Given the description of an element on the screen output the (x, y) to click on. 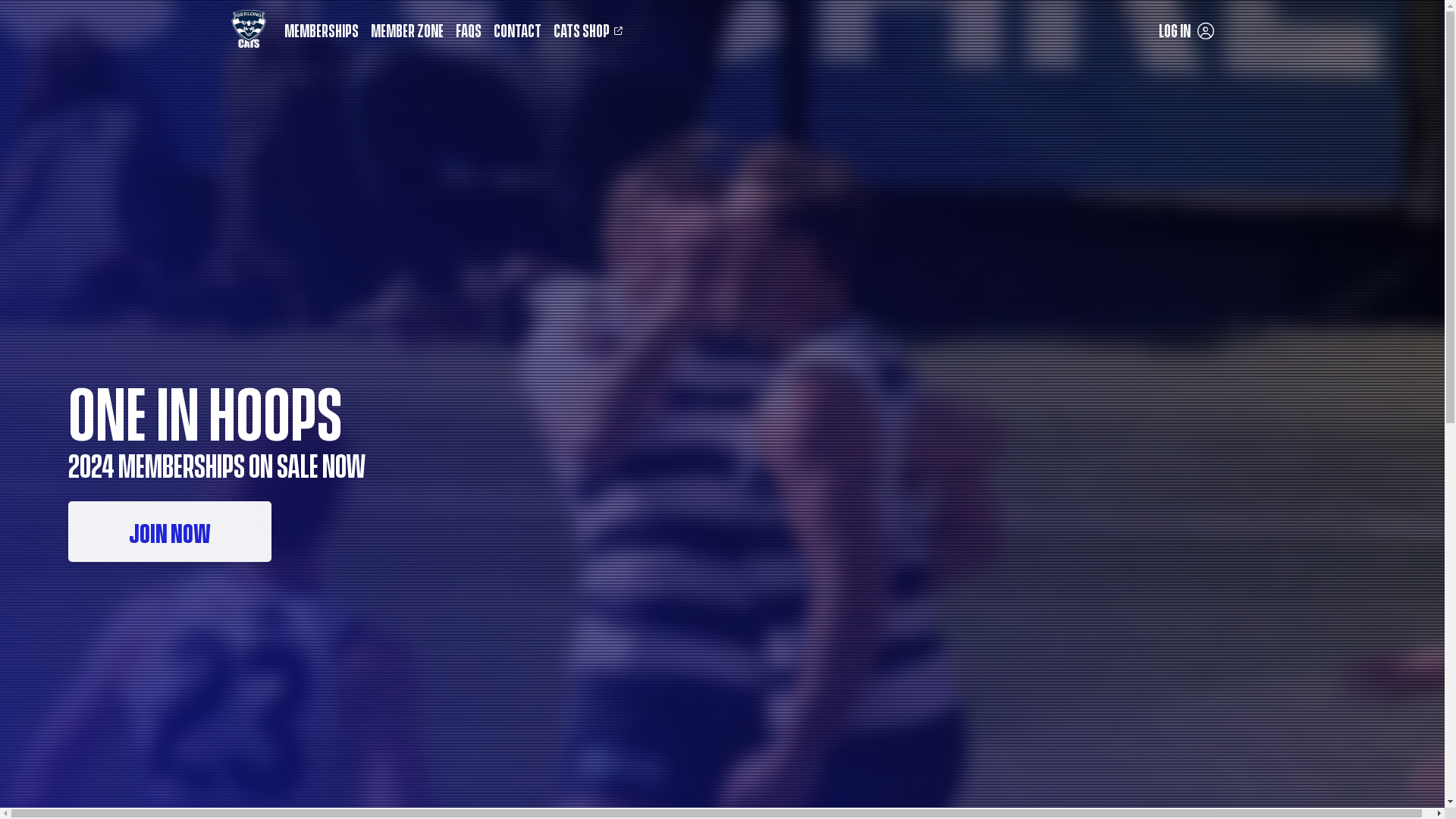
CONTACT Element type: text (517, 28)
FAQS Element type: text (468, 28)
MEMBERSHIPS Element type: text (321, 28)
CATS SHOP Element type: text (589, 28)
MEMBER ZONE Element type: text (406, 28)
LOG IN    Element type: text (1186, 28)
JOIN NOW Element type: text (169, 531)
